Given the description of an element on the screen output the (x, y) to click on. 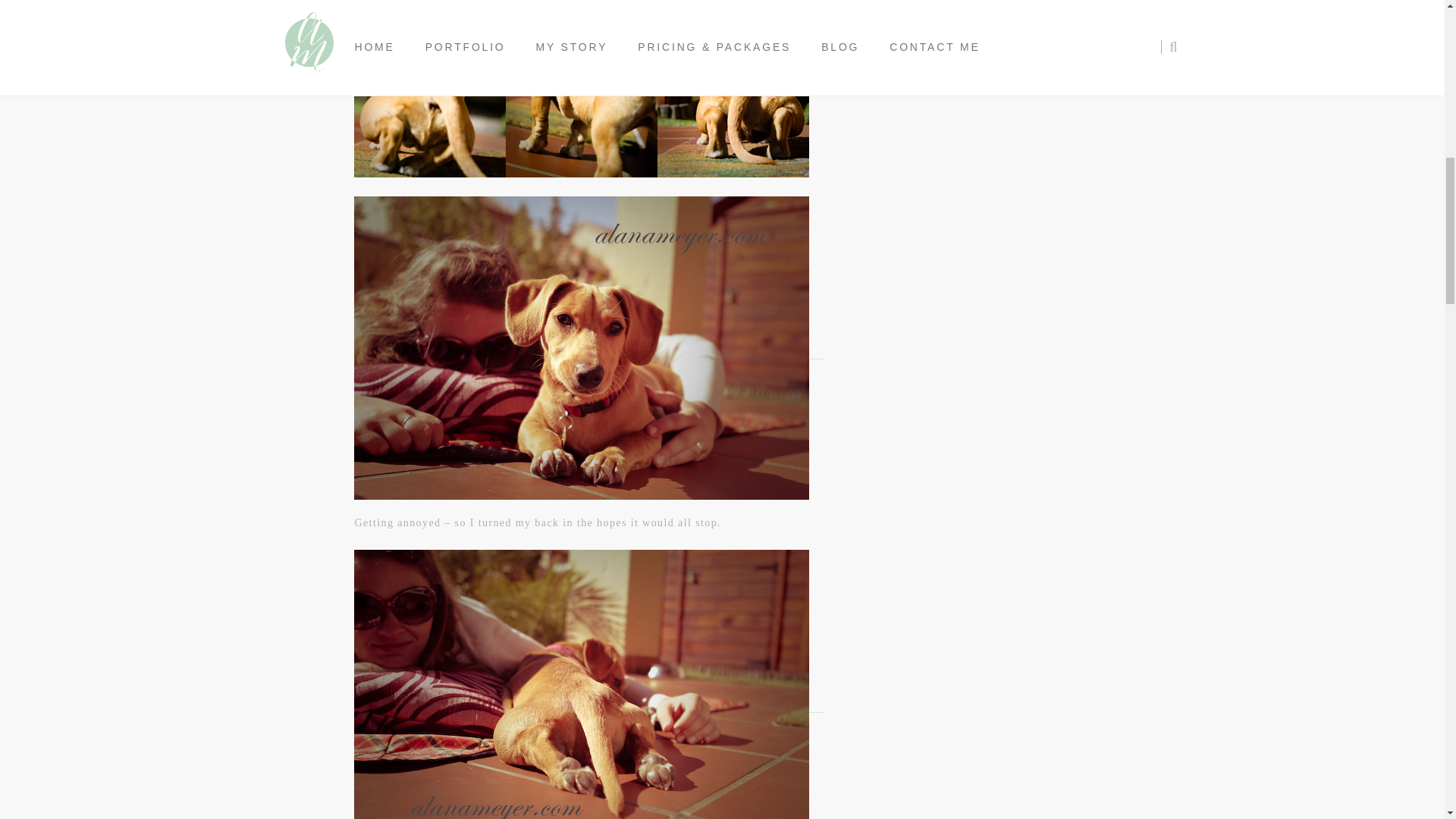
dog blog photography (581, 88)
cassiedogblog-7 (581, 684)
